Given the description of an element on the screen output the (x, y) to click on. 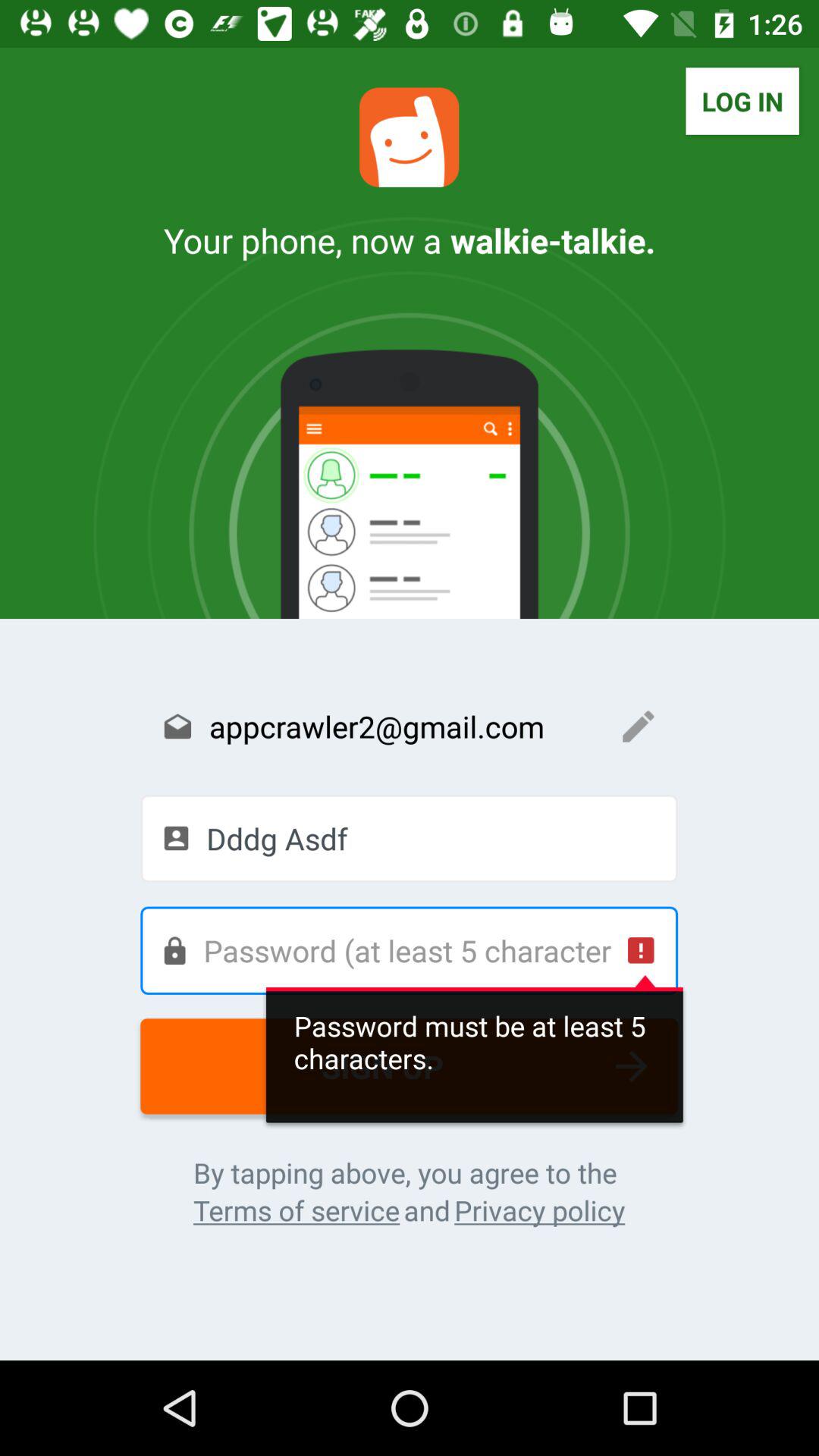
turn off the icon next to the and icon (539, 1210)
